Given the description of an element on the screen output the (x, y) to click on. 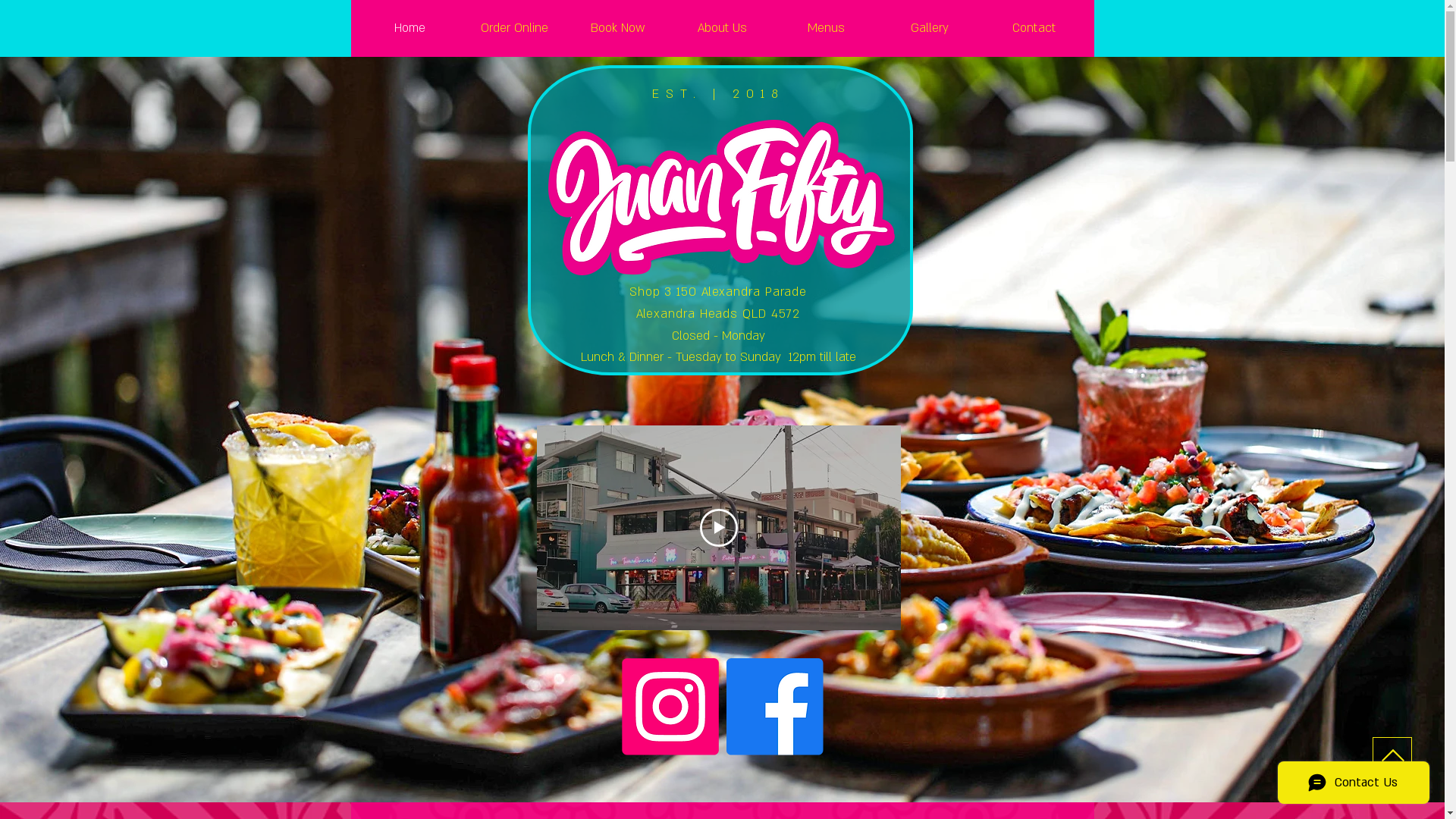
Menus Element type: text (825, 28)
Order Online Element type: text (514, 28)
Contact Element type: text (1033, 28)
Book Now Element type: text (617, 28)
Gallery Element type: text (930, 28)
Home Element type: text (409, 28)
About Us Element type: text (722, 28)
